Given the description of an element on the screen output the (x, y) to click on. 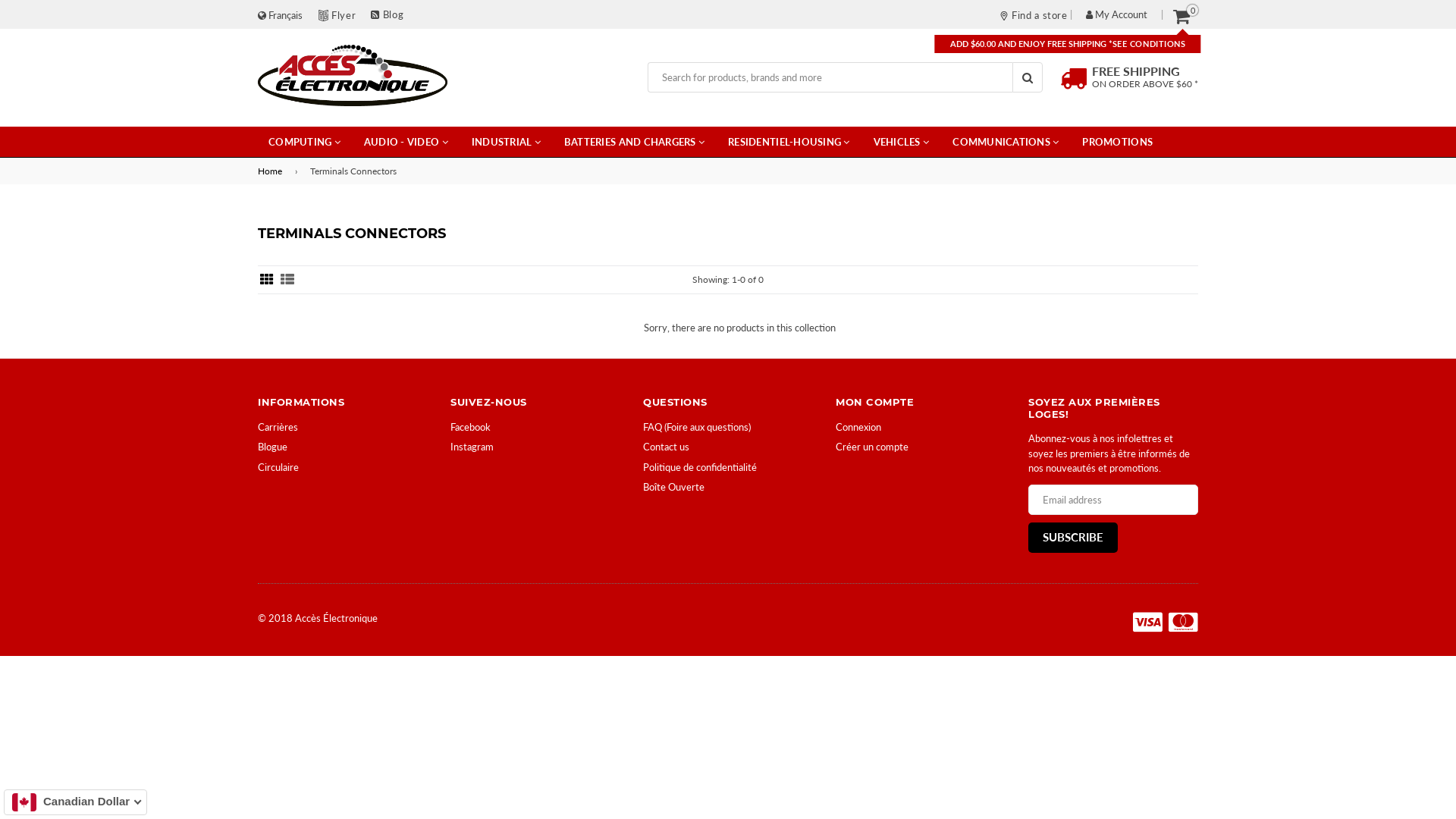
SEE CONDITIONS Element type: text (1149, 43)
AUDIO - VIDEO Element type: text (405, 141)
COMPUTING Element type: text (304, 141)
Connexion Element type: text (858, 426)
INDUSTRIAL Element type: text (506, 141)
List View Element type: hover (287, 279)
SUBSCRIBE Element type: text (1072, 537)
Blogue Element type: text (272, 446)
BATTERIES AND CHARGERS Element type: text (634, 141)
Flyer Element type: text (343, 15)
Contact us Element type: text (666, 446)
VEHICLES Element type: text (901, 141)
COMMUNICATIONS Element type: text (1005, 141)
Find a store Element type: text (1032, 14)
Blog Element type: text (386, 14)
SUBMIT Element type: text (1027, 77)
Instagram Element type: text (471, 446)
RESIDENTIEL-HOUSING Element type: text (788, 141)
PROMOTIONS Element type: text (1117, 141)
Circulaire Element type: text (277, 467)
Grid View Element type: hover (266, 279)
Home Element type: text (272, 171)
Facebook Element type: text (470, 426)
0 Element type: text (1181, 15)
FAQ (Foire aux questions) Element type: text (696, 426)
